Given the description of an element on the screen output the (x, y) to click on. 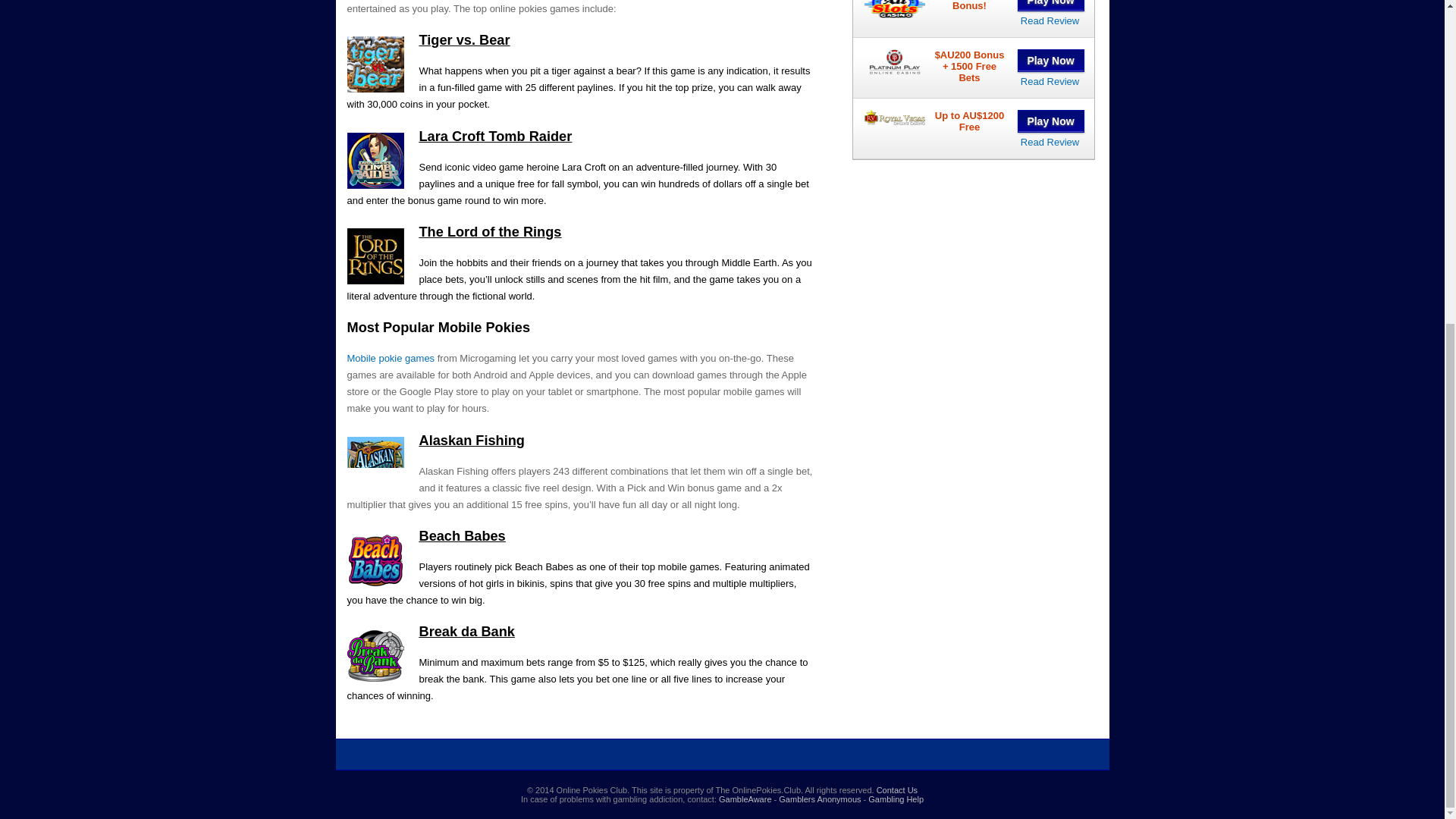
Mobile pokie games (391, 357)
Platinum Play Casino (1049, 81)
Contact Us (896, 789)
Read Review (1049, 20)
Play Now (1050, 60)
Gamblers Anonymous (819, 798)
Play Now (1050, 5)
Play Now (1050, 120)
Read Review (1049, 142)
GambleAware (745, 798)
